Given the description of an element on the screen output the (x, y) to click on. 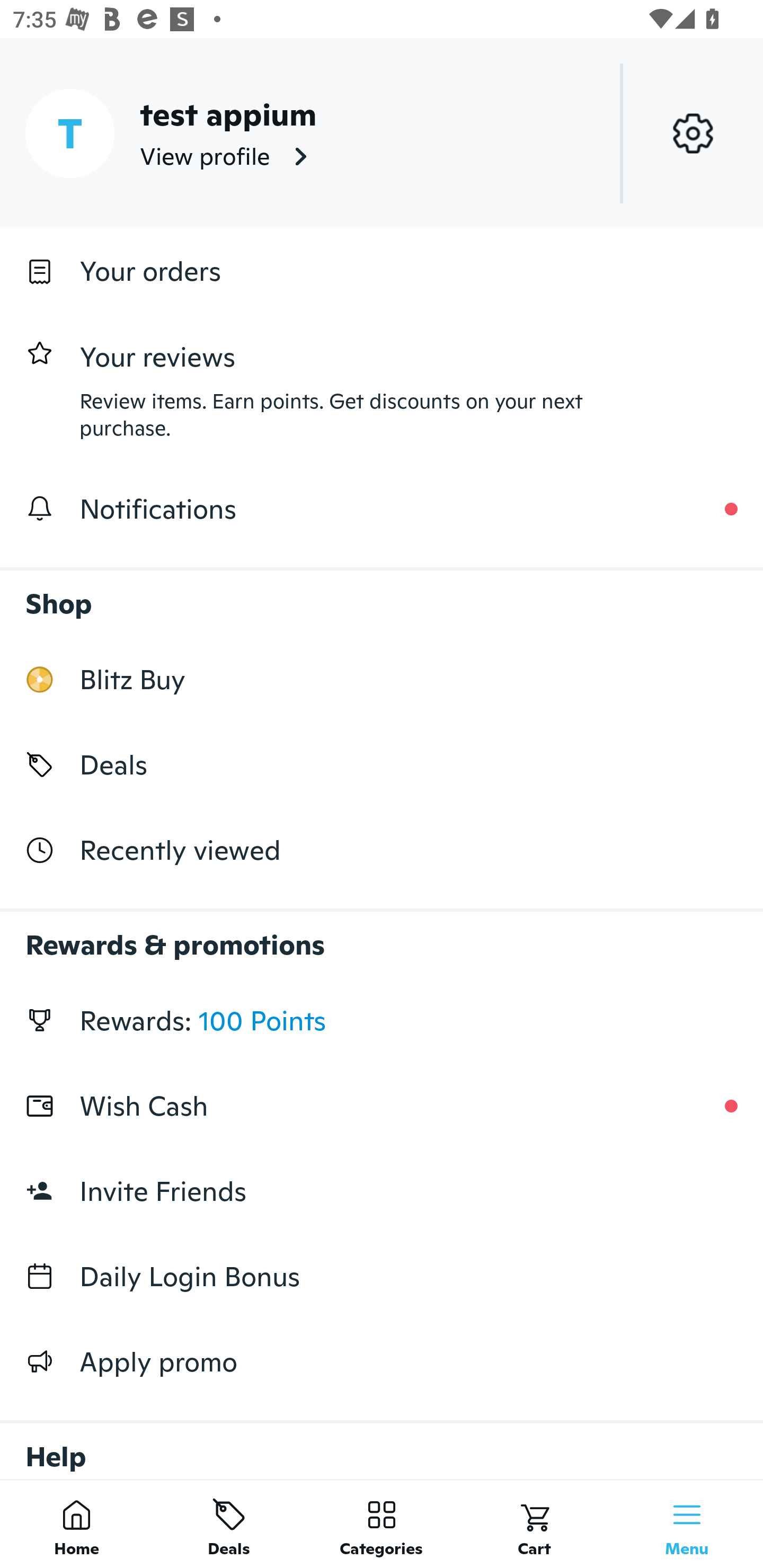
T test appium View profile (381, 132)
Your orders (381, 270)
Notifications (381, 508)
Shop (381, 593)
Blitz Buy (381, 679)
Deals (381, 764)
Recently viewed (381, 850)
Rewards & promotions (381, 935)
Rewards: 100 Points (381, 1020)
Wish Cash (381, 1106)
Invite Friends (381, 1190)
Daily Login Bonus (381, 1277)
Apply promo (381, 1361)
Help (381, 1441)
Home (76, 1523)
Deals (228, 1523)
Categories (381, 1523)
Cart (533, 1523)
Menu (686, 1523)
